Given the description of an element on the screen output the (x, y) to click on. 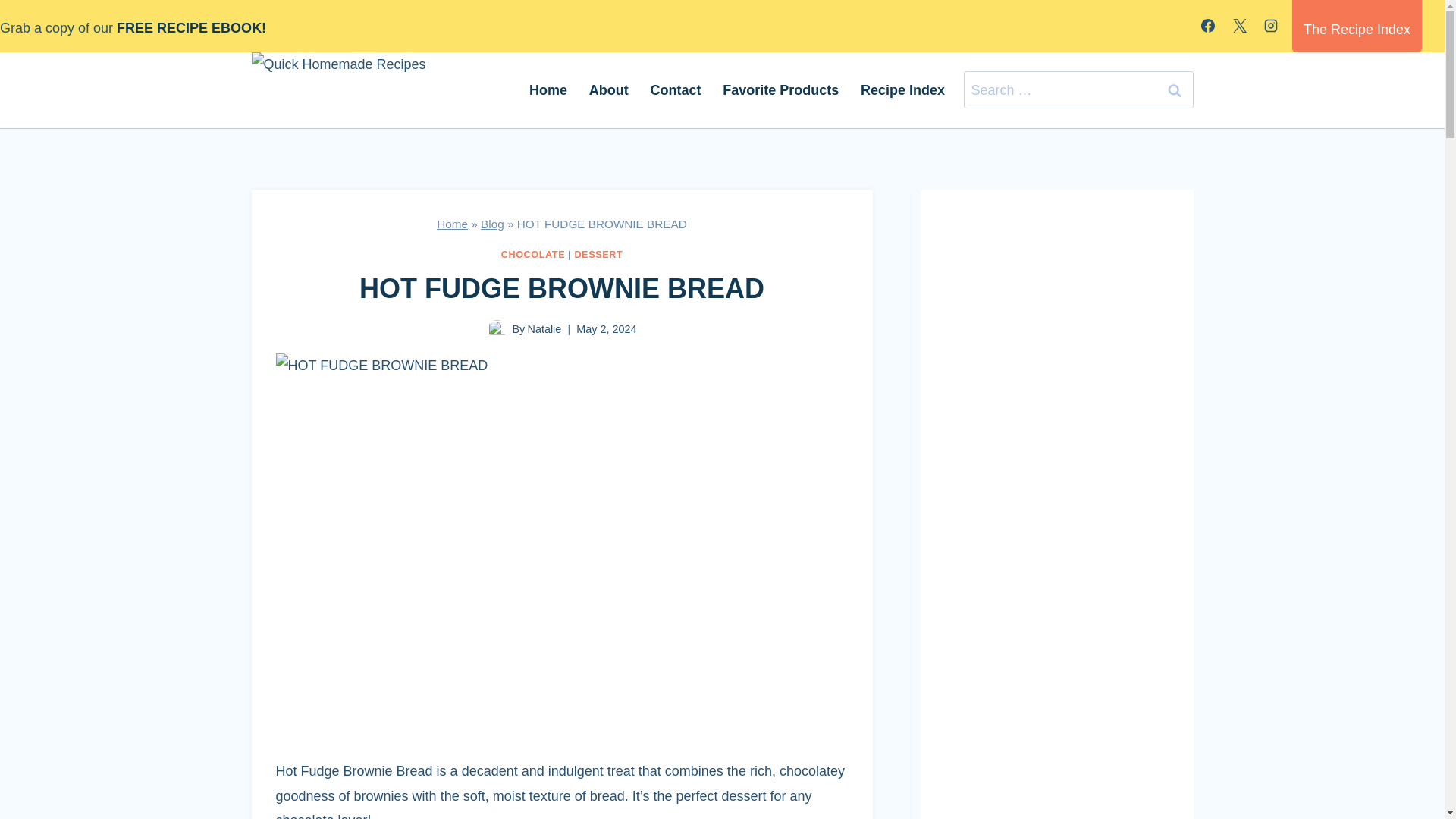
Search (1174, 89)
Contact (675, 89)
Search (1174, 89)
Natalie (543, 328)
Home (548, 89)
About (608, 89)
FREE RECIPE EBOOK!   (194, 28)
CHOCOLATE (533, 254)
Favorite Products (780, 89)
The Recipe Index (1357, 26)
